Given the description of an element on the screen output the (x, y) to click on. 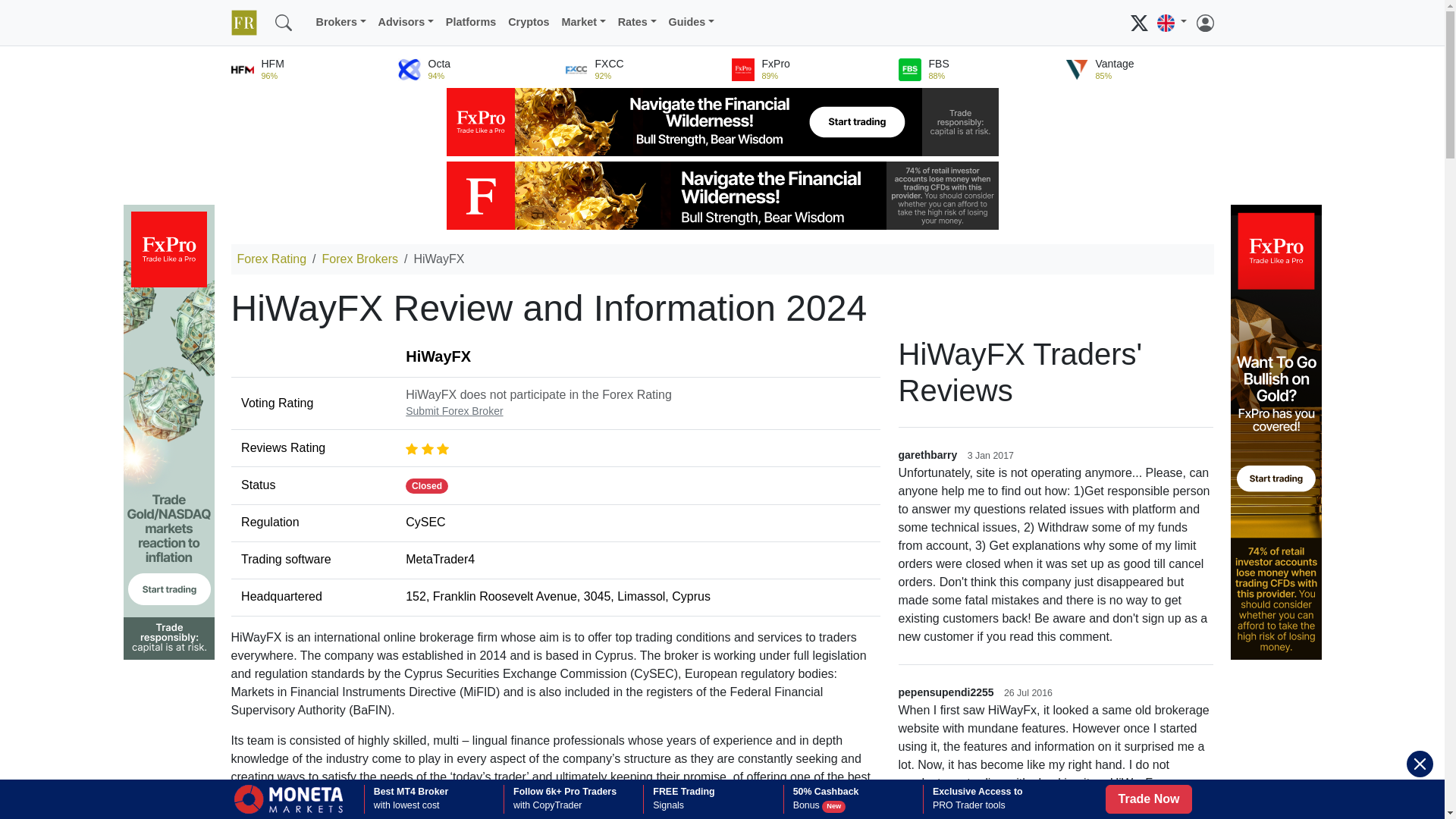
Search (302, 14)
Search (282, 22)
Cryptos (528, 22)
Platforms (470, 22)
